Given the description of an element on the screen output the (x, y) to click on. 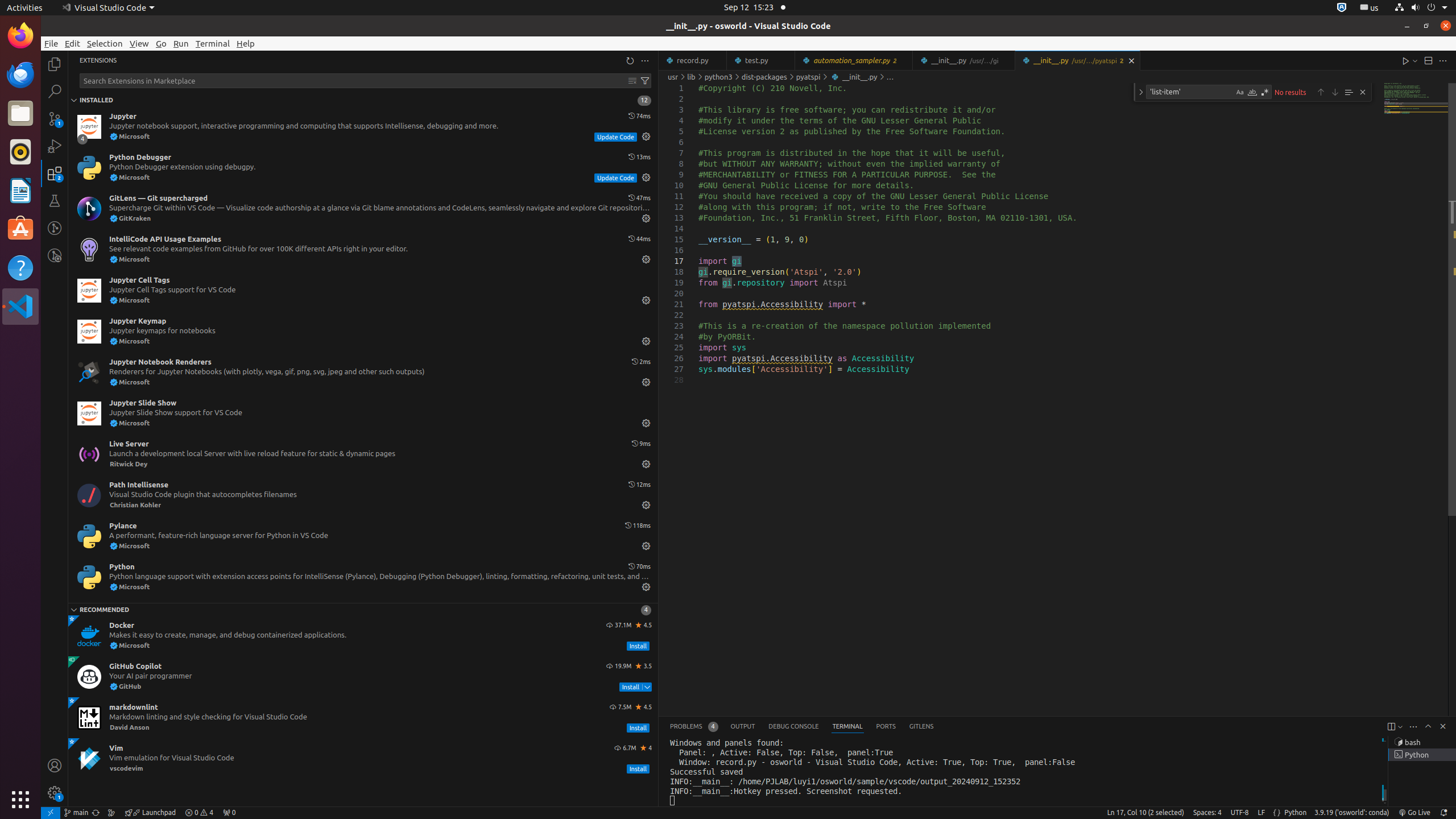
Refresh Element type: push-button (629, 60)
Run Python File Element type: push-button (1405, 60)
rocket gitlens-unplug Launchpad, GitLens Launchpad ᴘʀᴇᴠɪᴇᴡ    &mdash;    [$(question)](command:gitlens.launchpad.indicator.action?%22info%22 "What is this?") [$(gear)](command:workbench.action.openSettings?%22gitlens.launchpad%22 "Settings")  |  [$(circle-slash) Hide](command:gitlens.launchpad.indicator.action?%22hide%22 "Hide") --- [Launchpad](command:gitlens.launchpad.indicator.action?%info%22 "Learn about Launchpad") organizes your pull requests into actionable groups to help you focus and keep your team unblocked. It's always accessible using the `GitLens: Open Launchpad` command from the Command Palette. --- [Connect an integration](command:gitlens.showLaunchpad?%7B%22source%22%3A%22launchpad-indicator%22%7D "Connect an integration") to get started. Element type: push-button (150, 812)
Problems (Ctrl+Shift+M) - Total 4 Problems Element type: page-tab (693, 726)
